Given the description of an element on the screen output the (x, y) to click on. 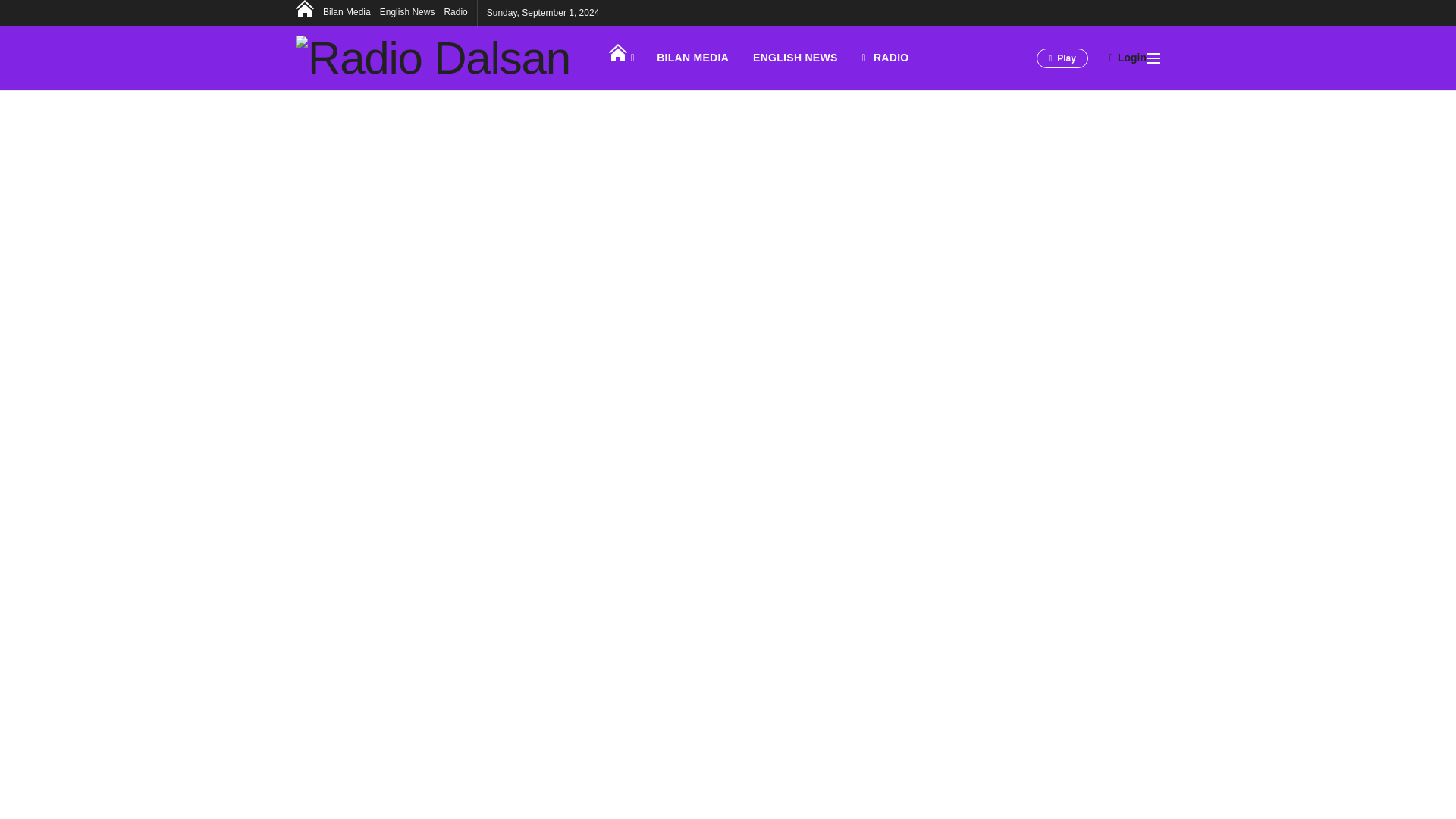
RADIO (885, 57)
Bilan Media (347, 12)
Play (1061, 57)
Radio (455, 12)
BILAN MEDIA (693, 57)
English News (407, 12)
ENGLISH NEWS (794, 57)
